Given the description of an element on the screen output the (x, y) to click on. 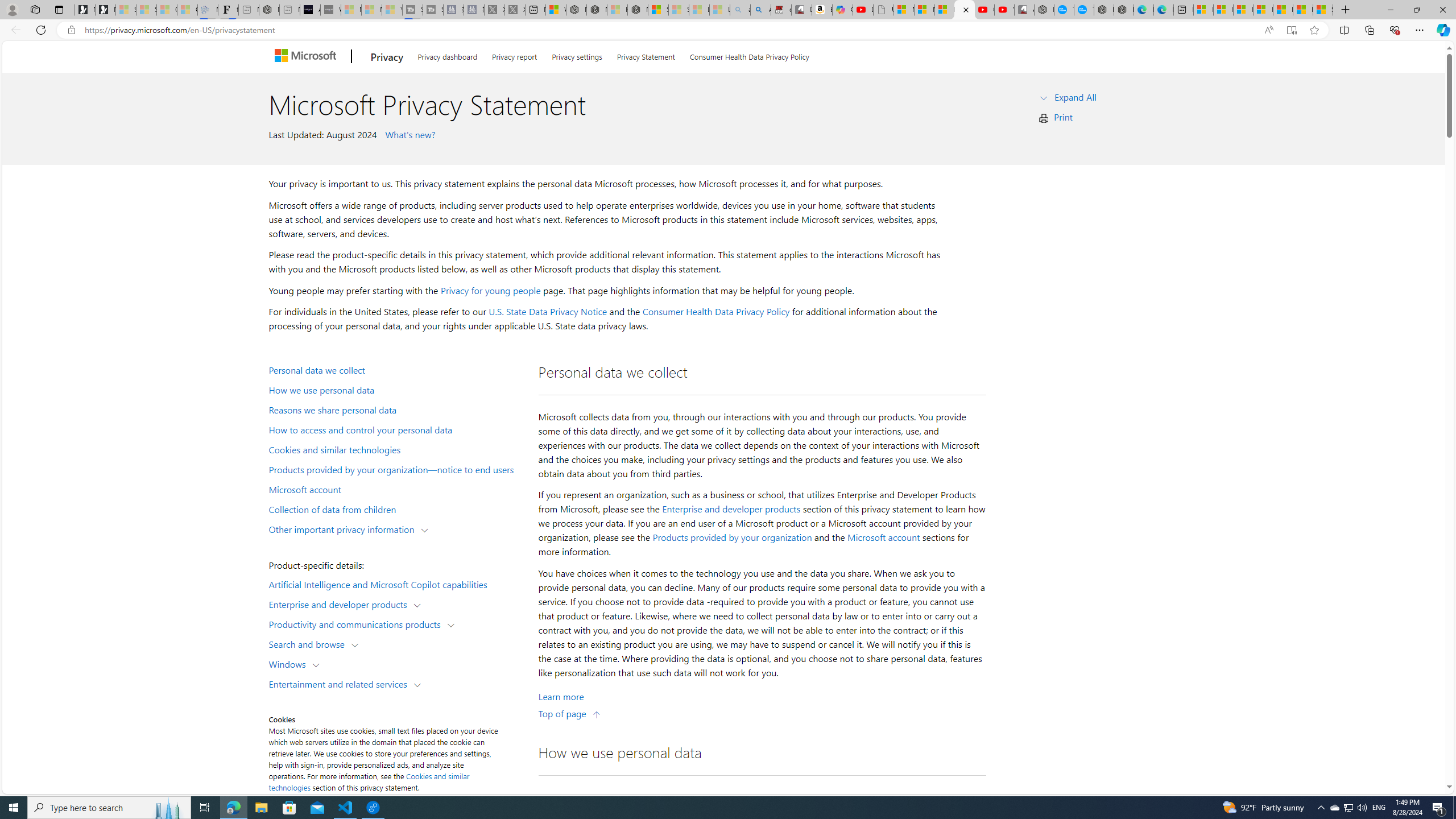
Nordace - My Account (1043, 9)
Nordace - #1 Japanese Best-Seller - Siena Smart Backpack (268, 9)
All Cubot phones (1024, 9)
Nordace - Nordace Siena Is Not An Ordinary Backpack (637, 9)
Newsletter Sign Up (105, 9)
Privacy Statement (645, 54)
Privacy dashboard (447, 54)
Top of page (569, 713)
